Given the description of an element on the screen output the (x, y) to click on. 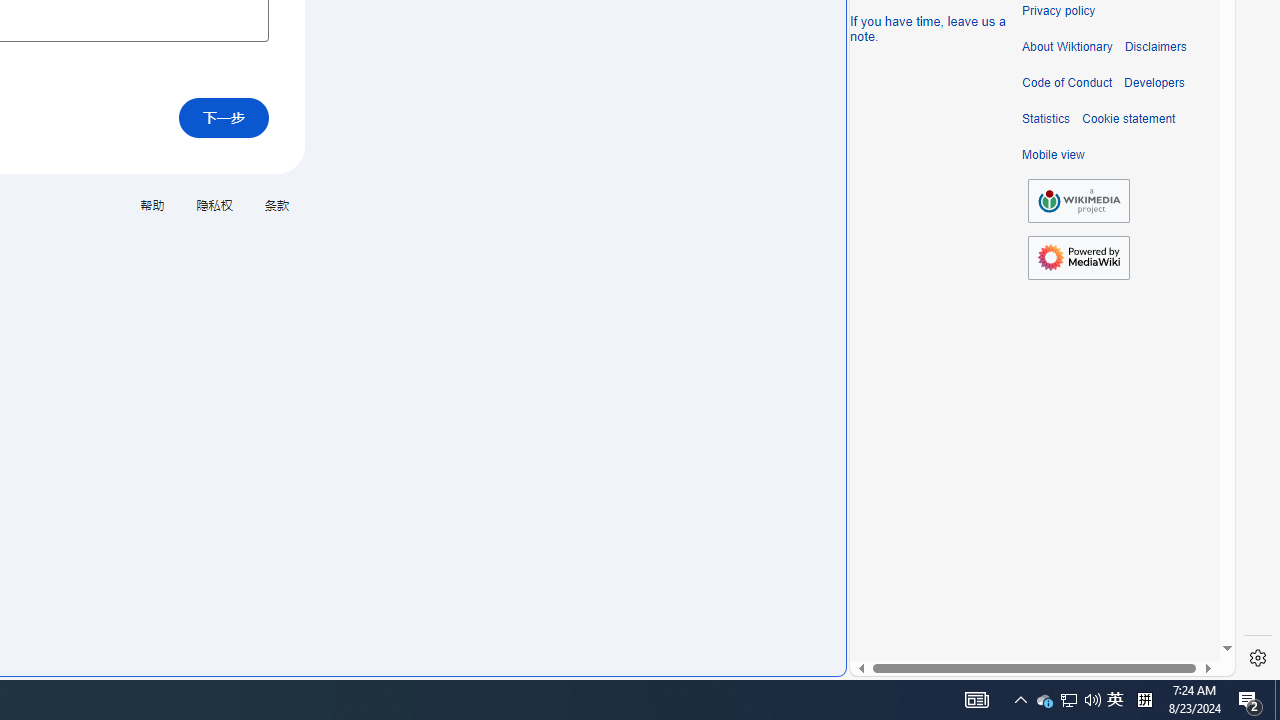
Mobile view (1053, 155)
Mobile view (1053, 155)
Wikimedia Foundation (1078, 201)
Privacy policy (1058, 11)
Disclaimers (1154, 47)
Cookie statement (1128, 119)
